Given the description of an element on the screen output the (x, y) to click on. 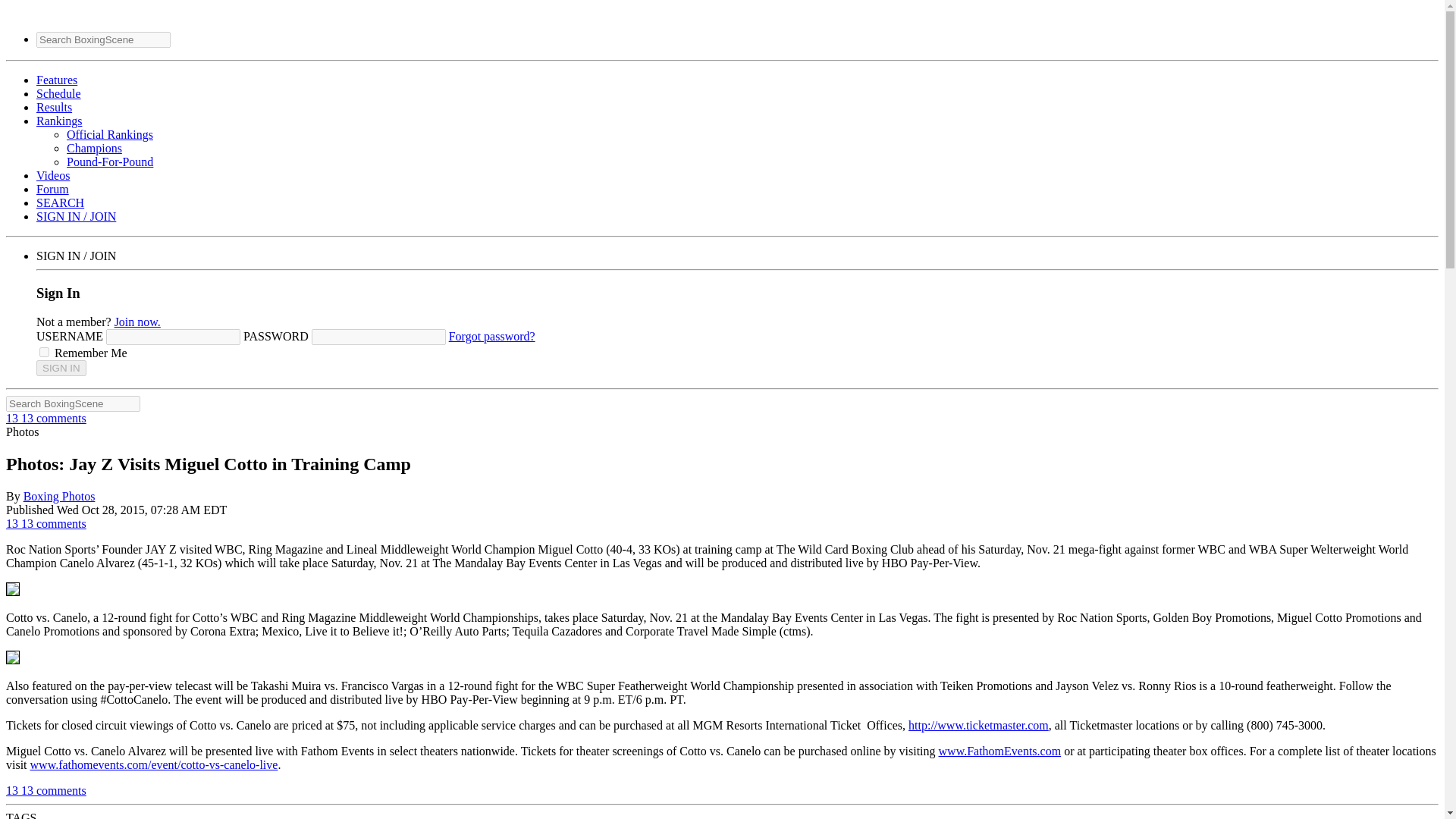
SIGN IN (60, 367)
Features (56, 79)
13 13 comments (45, 789)
www.FathomEvents.com (1000, 750)
on (44, 352)
Forgot password? (491, 336)
Forum (52, 188)
Schedule (58, 92)
Official Rankings (109, 133)
Rankings (58, 120)
